Given the description of an element on the screen output the (x, y) to click on. 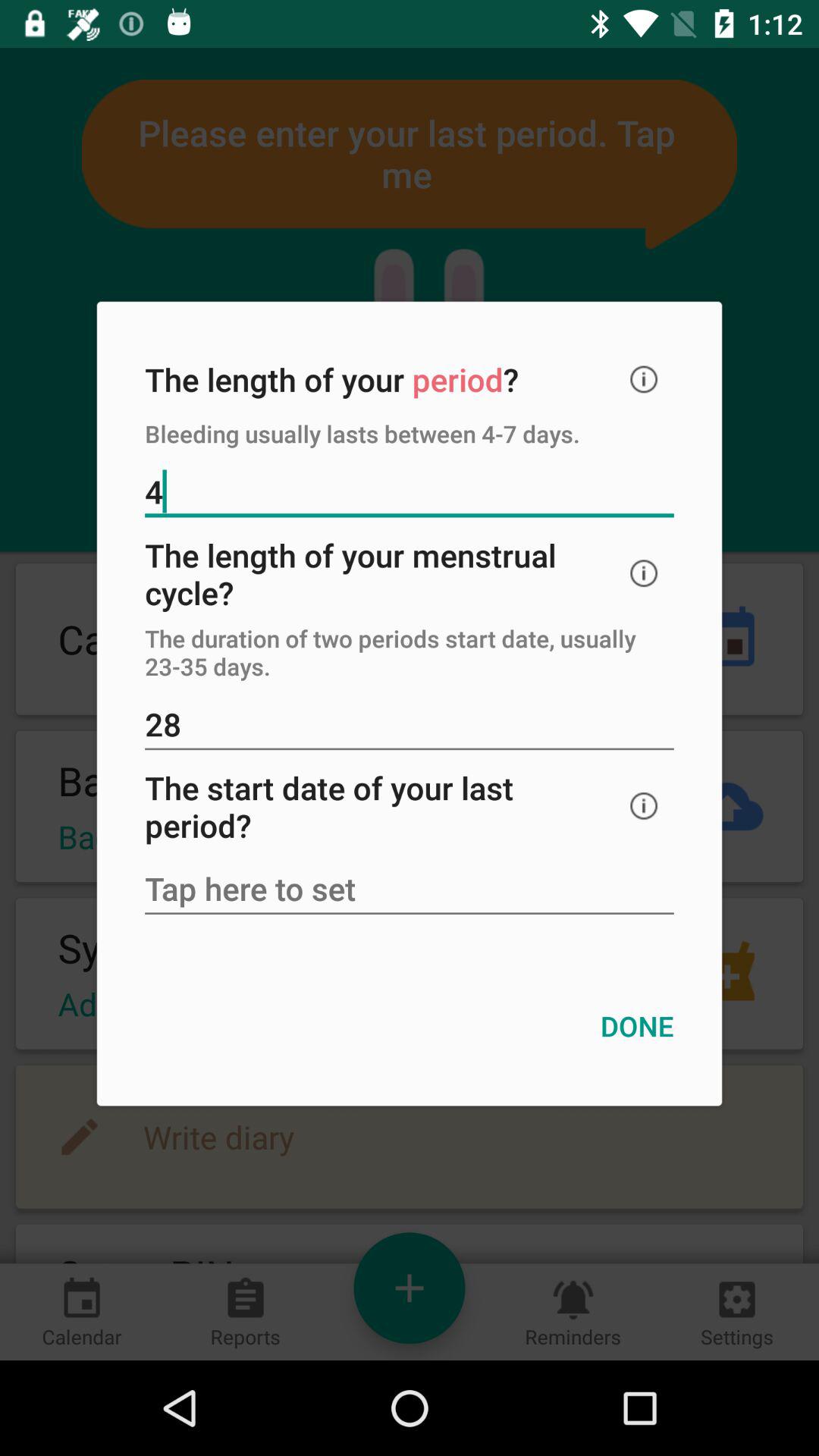
more information (643, 806)
